Given the description of an element on the screen output the (x, y) to click on. 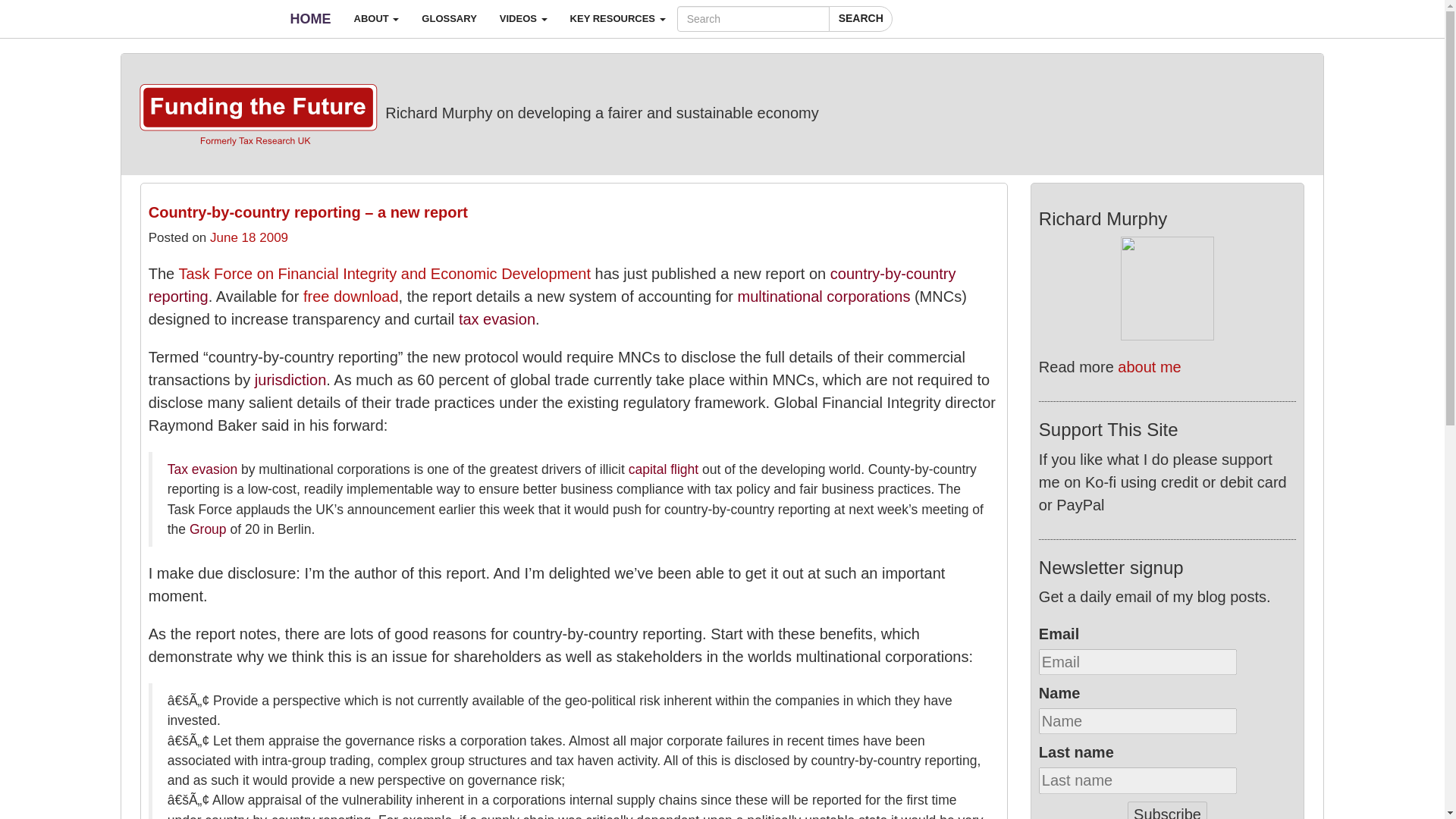
Group (208, 529)
Search (860, 18)
Tax evasion (202, 468)
Glossary (448, 18)
free download (350, 296)
Search (860, 18)
tax evasion (496, 319)
June 18 2009 (248, 237)
jurisdiction (290, 379)
VIDEOS (523, 18)
Videos (523, 18)
KEY RESOURCES (618, 18)
Key Resources (618, 18)
Subscribe (1166, 810)
ABOUT (376, 18)
